Given the description of an element on the screen output the (x, y) to click on. 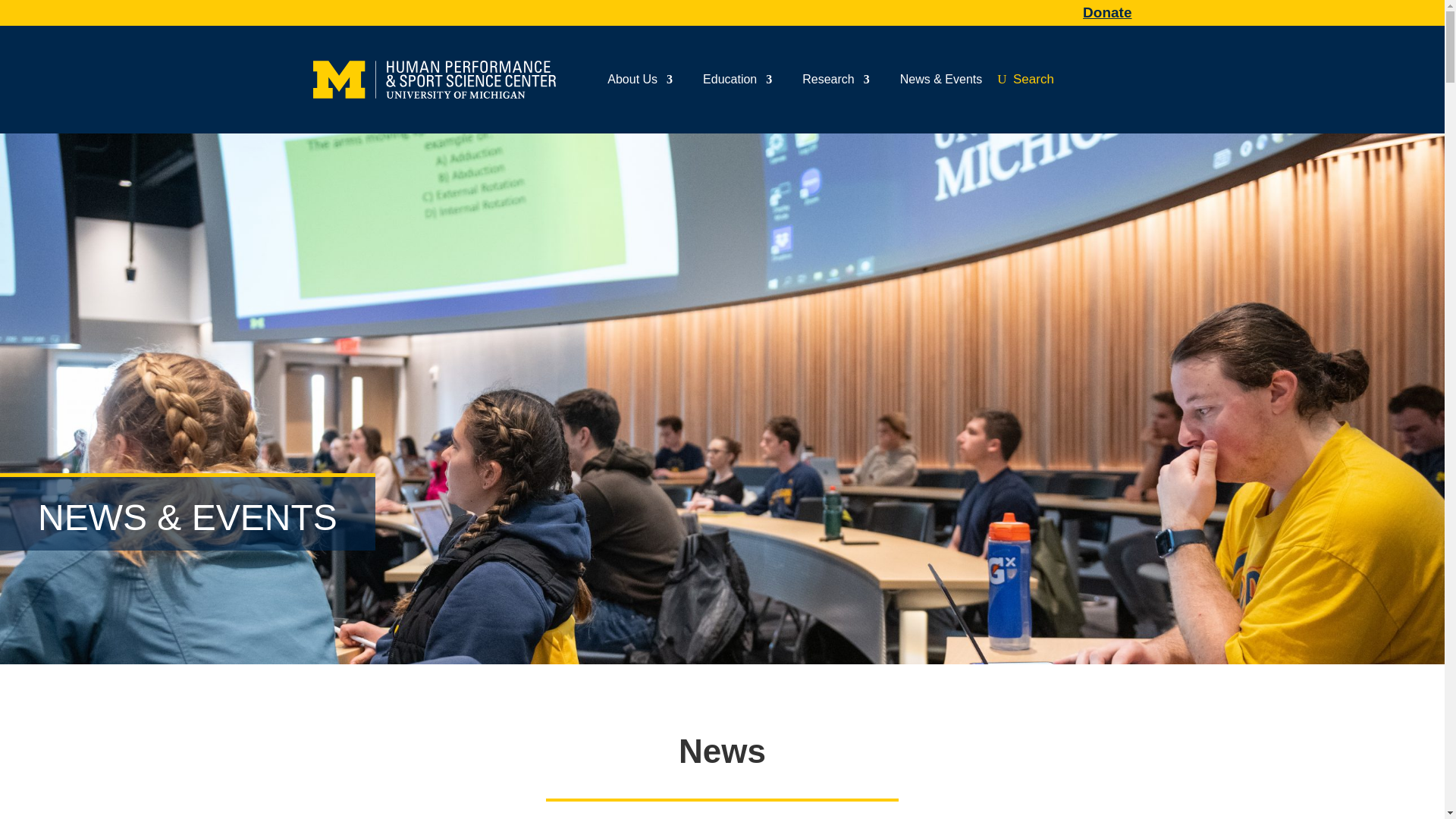
About Us (639, 82)
Research (835, 82)
Education (737, 82)
essi-logo (433, 78)
Search (1025, 79)
Donate (1107, 12)
